Given the description of an element on the screen output the (x, y) to click on. 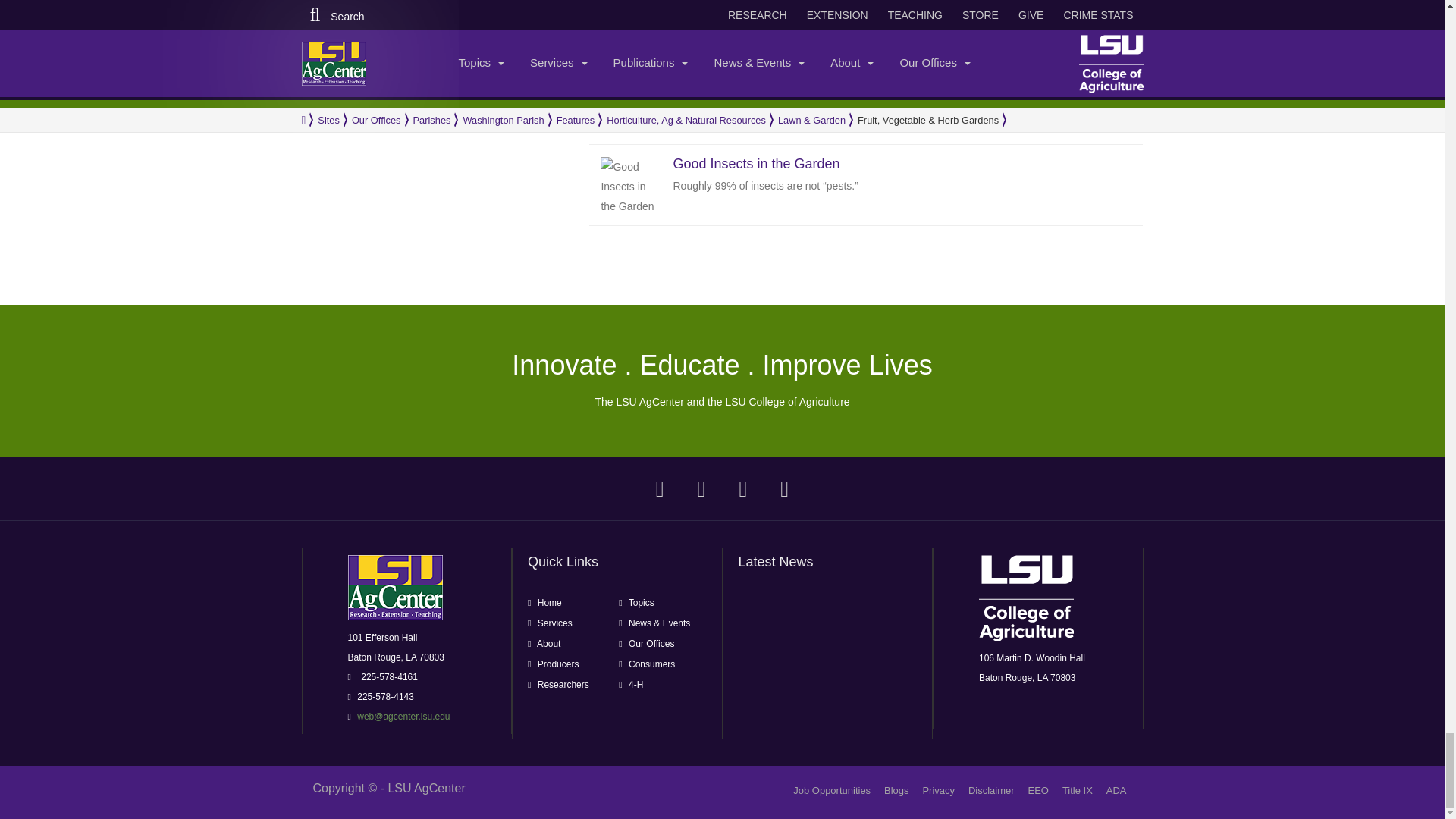
Title IX (1077, 790)
EEO (1037, 790)
Blogs (895, 790)
Careers (831, 790)
ADA Web Content Accessibility (1116, 790)
Privacyp (938, 790)
Disclaimer (991, 790)
